Given the description of an element on the screen output the (x, y) to click on. 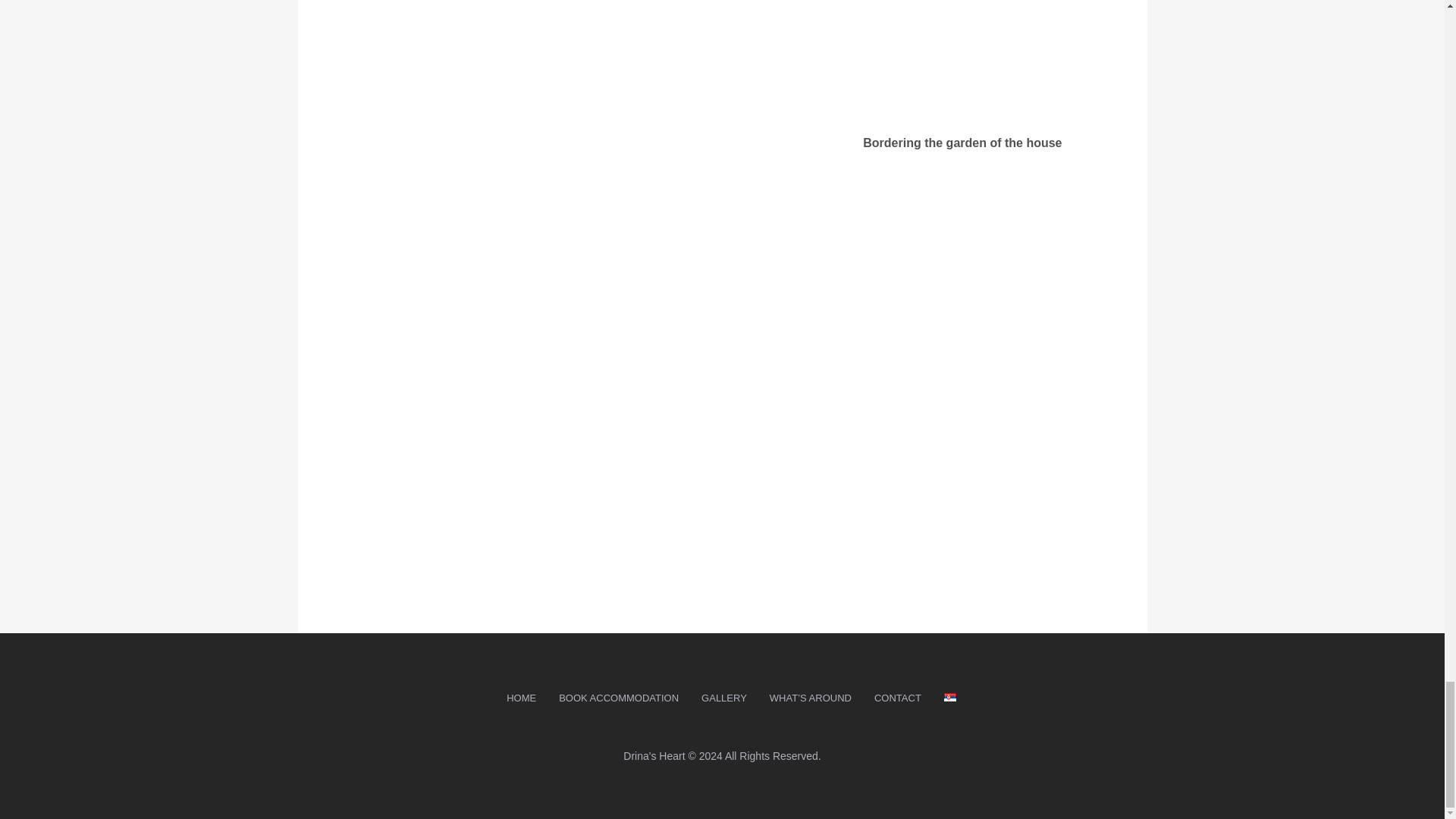
GALLERY (724, 698)
HOME (521, 698)
CONTACT (898, 698)
BOOK ACCOMMODATION (618, 698)
